Given the description of an element on the screen output the (x, y) to click on. 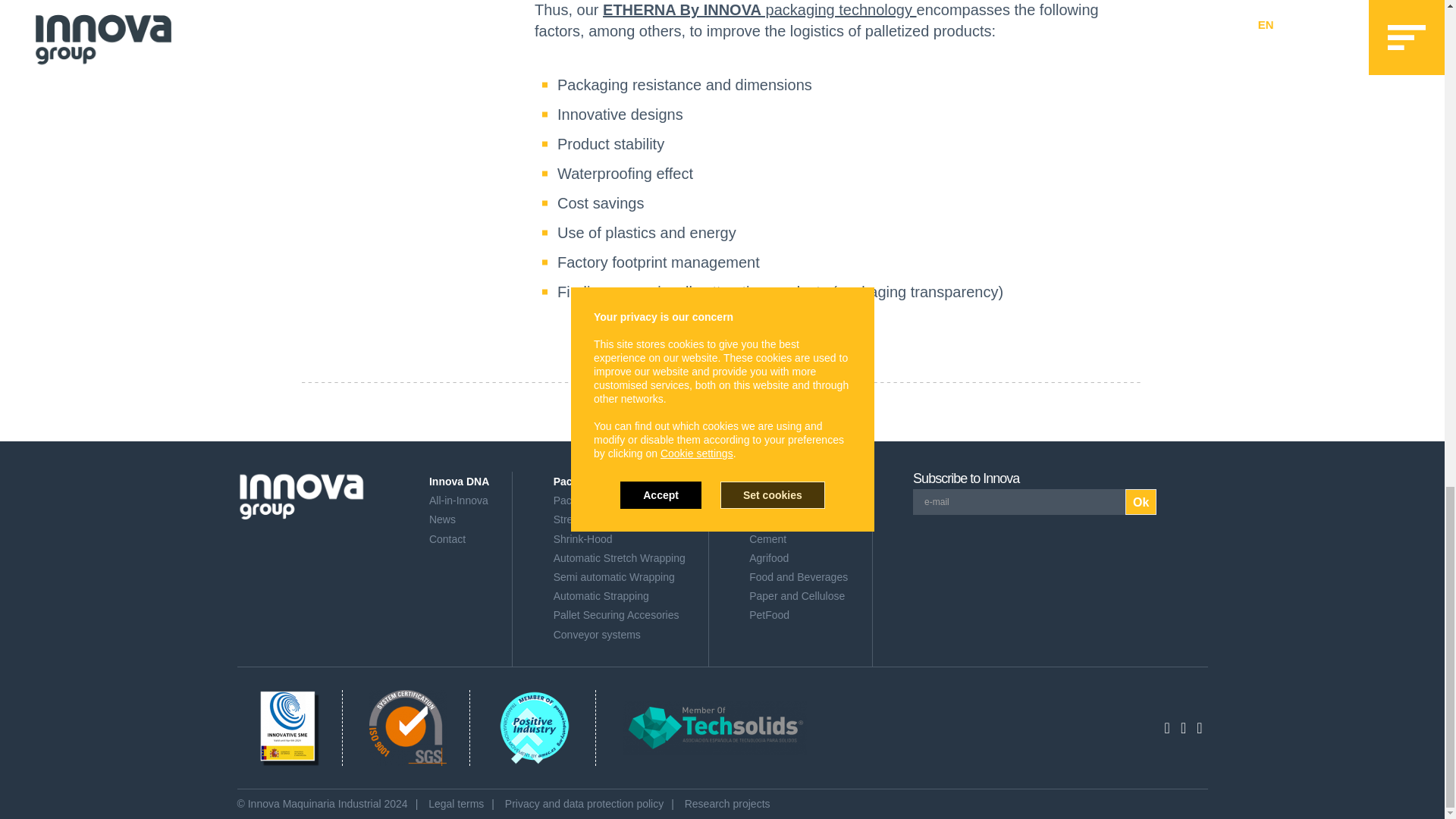
Ok (1140, 501)
